Given the description of an element on the screen output the (x, y) to click on. 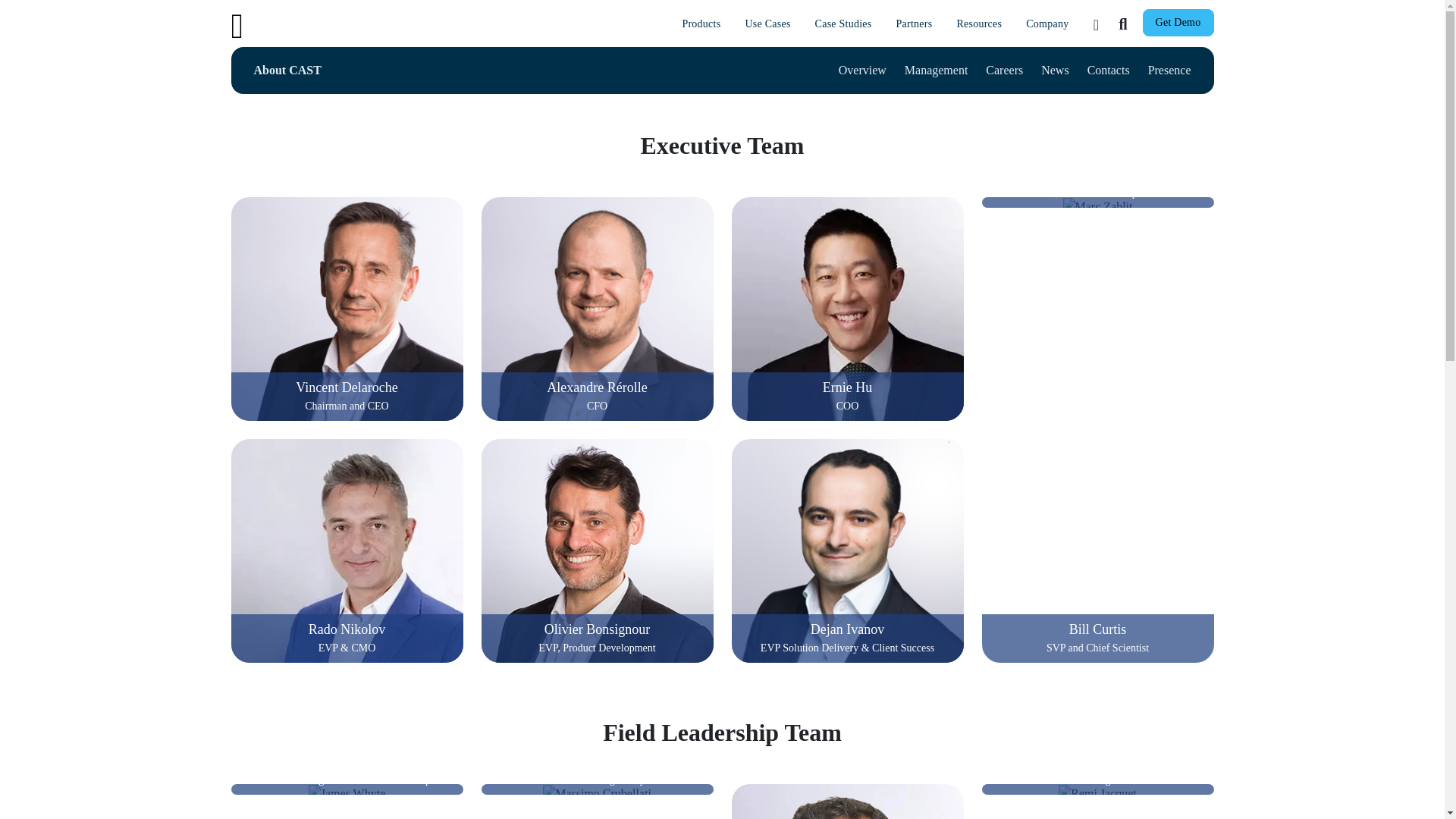
Products (700, 22)
Ernie Hu (846, 313)
Case Studies (843, 22)
Olivier Bonsignour (596, 554)
Company (1046, 22)
Use Cases (767, 22)
Vincent Delaroche (346, 313)
Rado Nikolov (346, 554)
Partners (914, 22)
Marc Zablit (1097, 207)
Resources (978, 22)
